Given the description of an element on the screen output the (x, y) to click on. 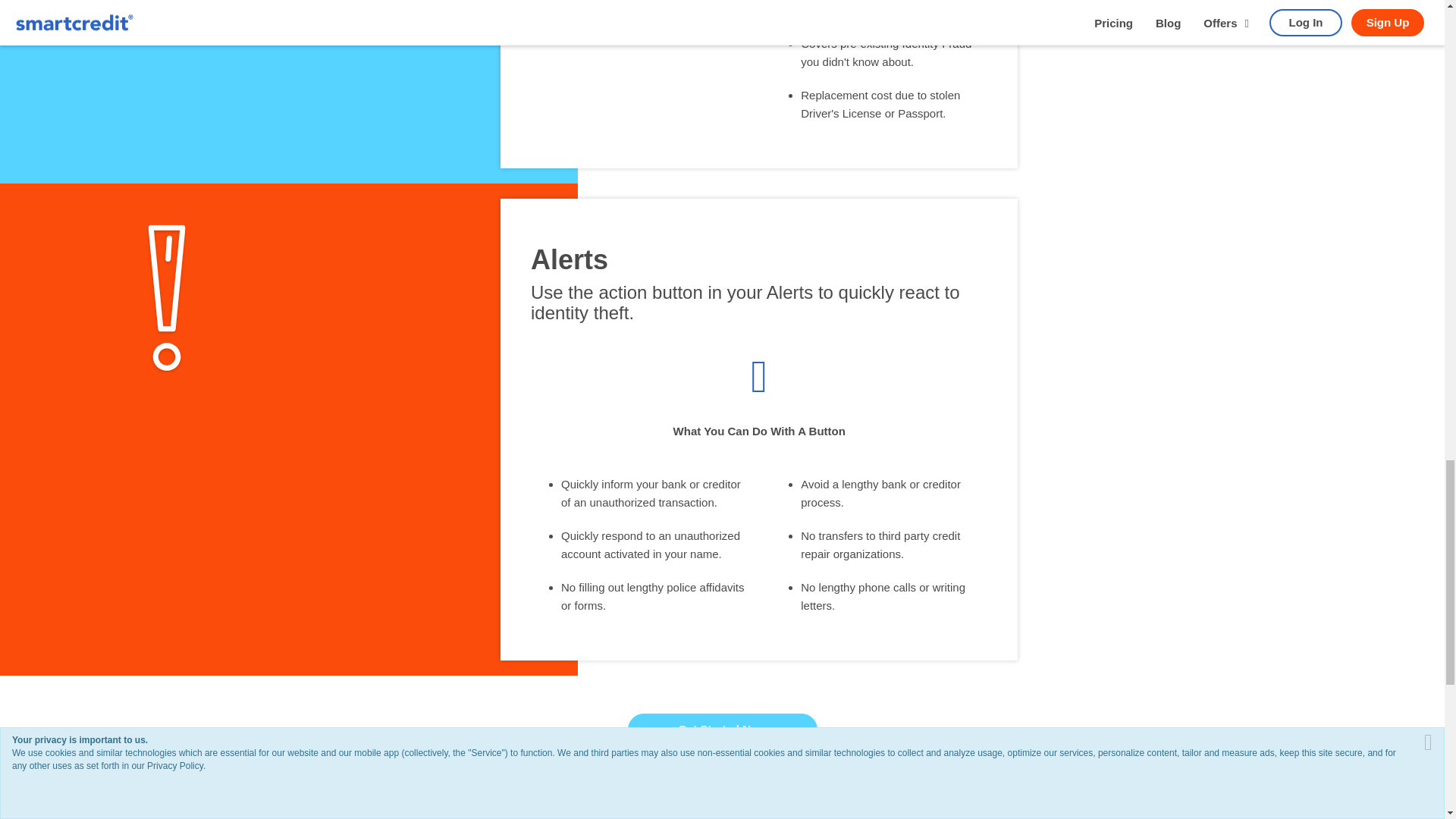
Get Started Now (721, 729)
